Given the description of an element on the screen output the (x, y) to click on. 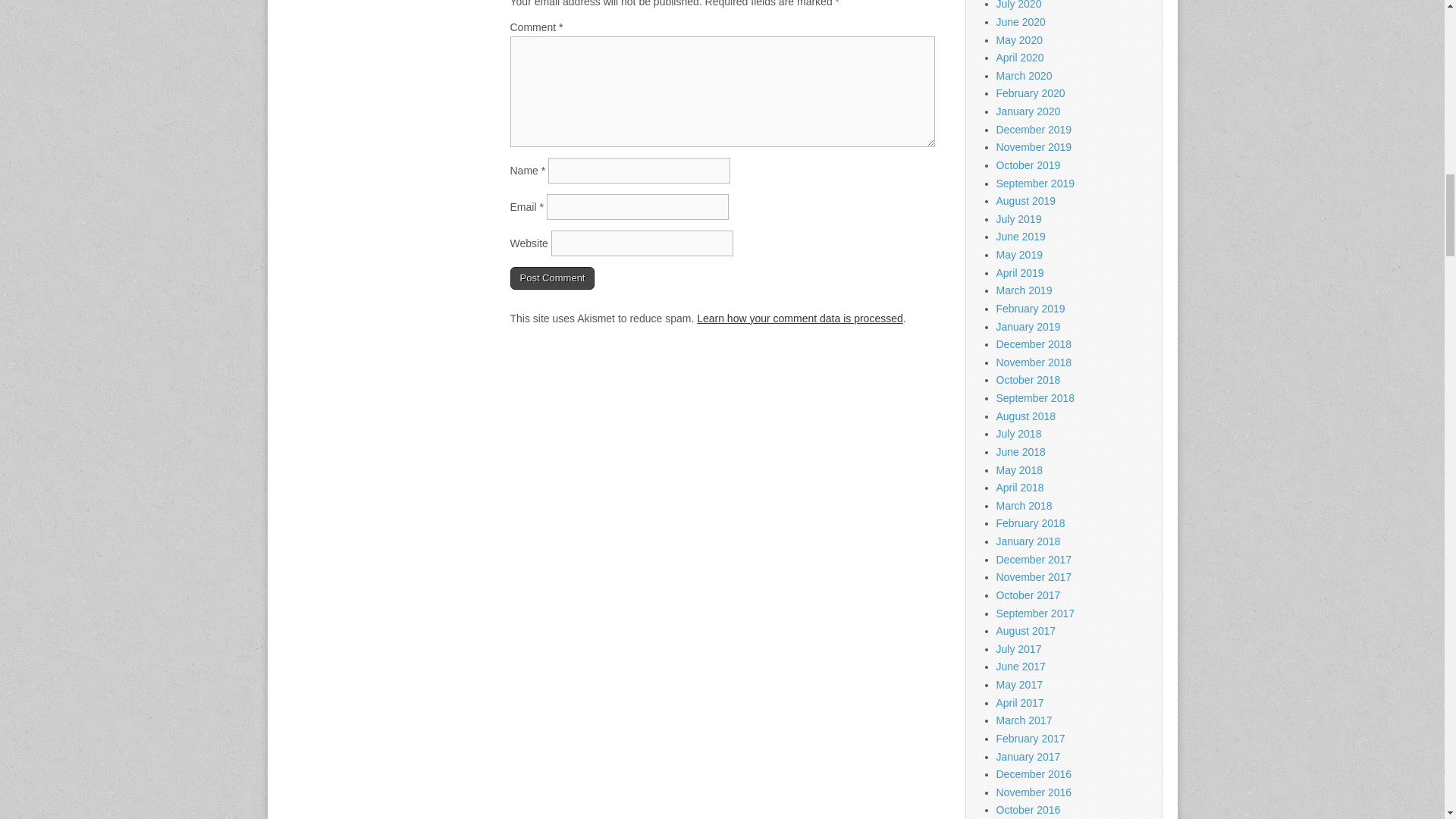
Post Comment (551, 277)
Learn how your comment data is processed (799, 318)
Post Comment (551, 277)
